Given the description of an element on the screen output the (x, y) to click on. 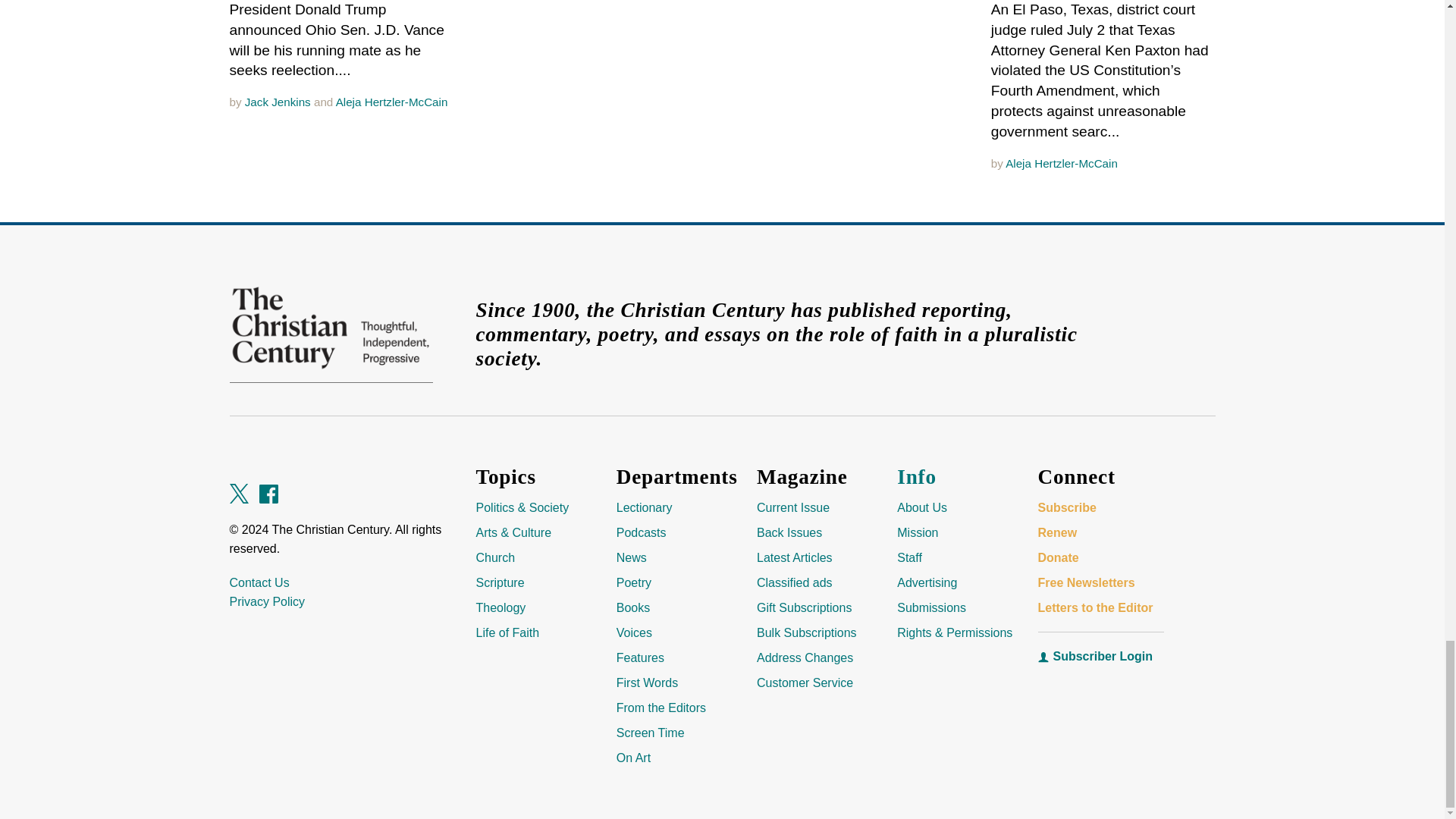
Back to homepage (330, 328)
